Given the description of an element on the screen output the (x, y) to click on. 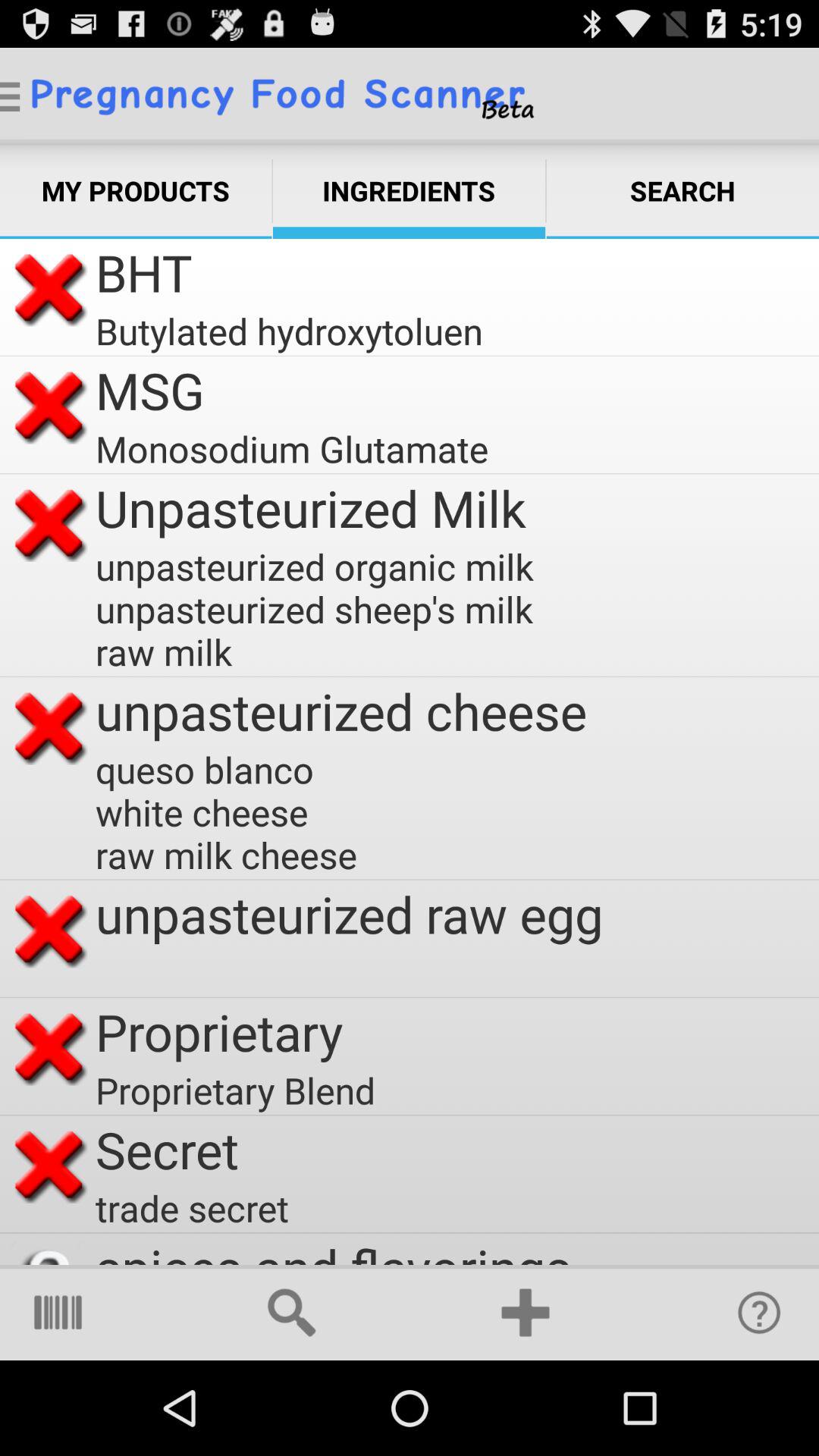
turn off icon below the proprietary item (239, 1089)
